Given the description of an element on the screen output the (x, y) to click on. 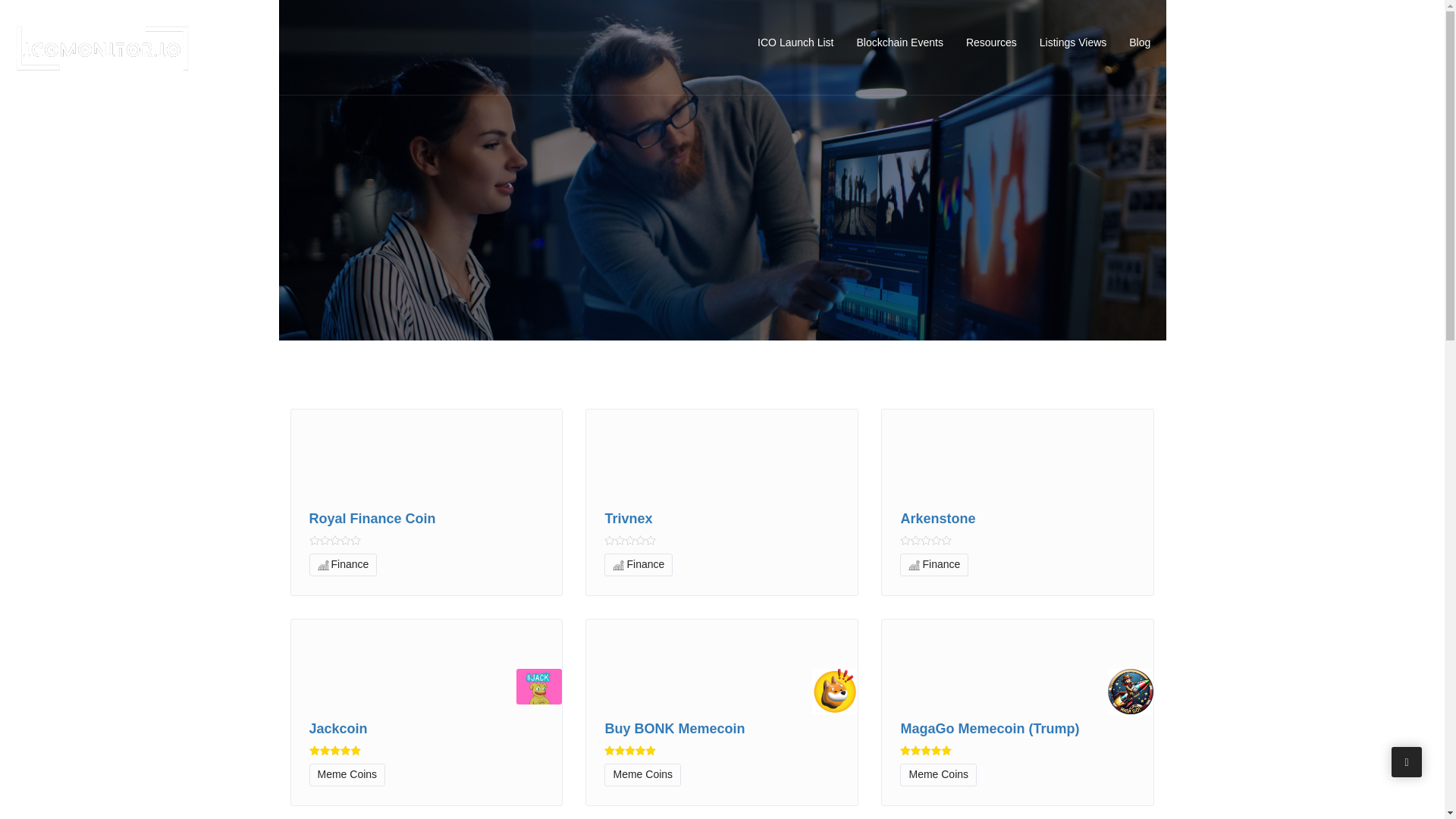
LIST YOUR ICO (1306, 40)
Jackcoin (426, 729)
Arkenstone (1017, 519)
Buy BONK Memecoin (722, 729)
Blockchain Events (898, 41)
Trivnex (722, 519)
Listings Views (1072, 41)
ICO Launch List (794, 41)
Trivnex (722, 519)
Buy BONK Memecoin (722, 729)
Arkenstone (1017, 519)
Contact Us (1198, 41)
Royal Finance Coin (426, 519)
Jackcoin (426, 729)
Resources (991, 41)
